Given the description of an element on the screen output the (x, y) to click on. 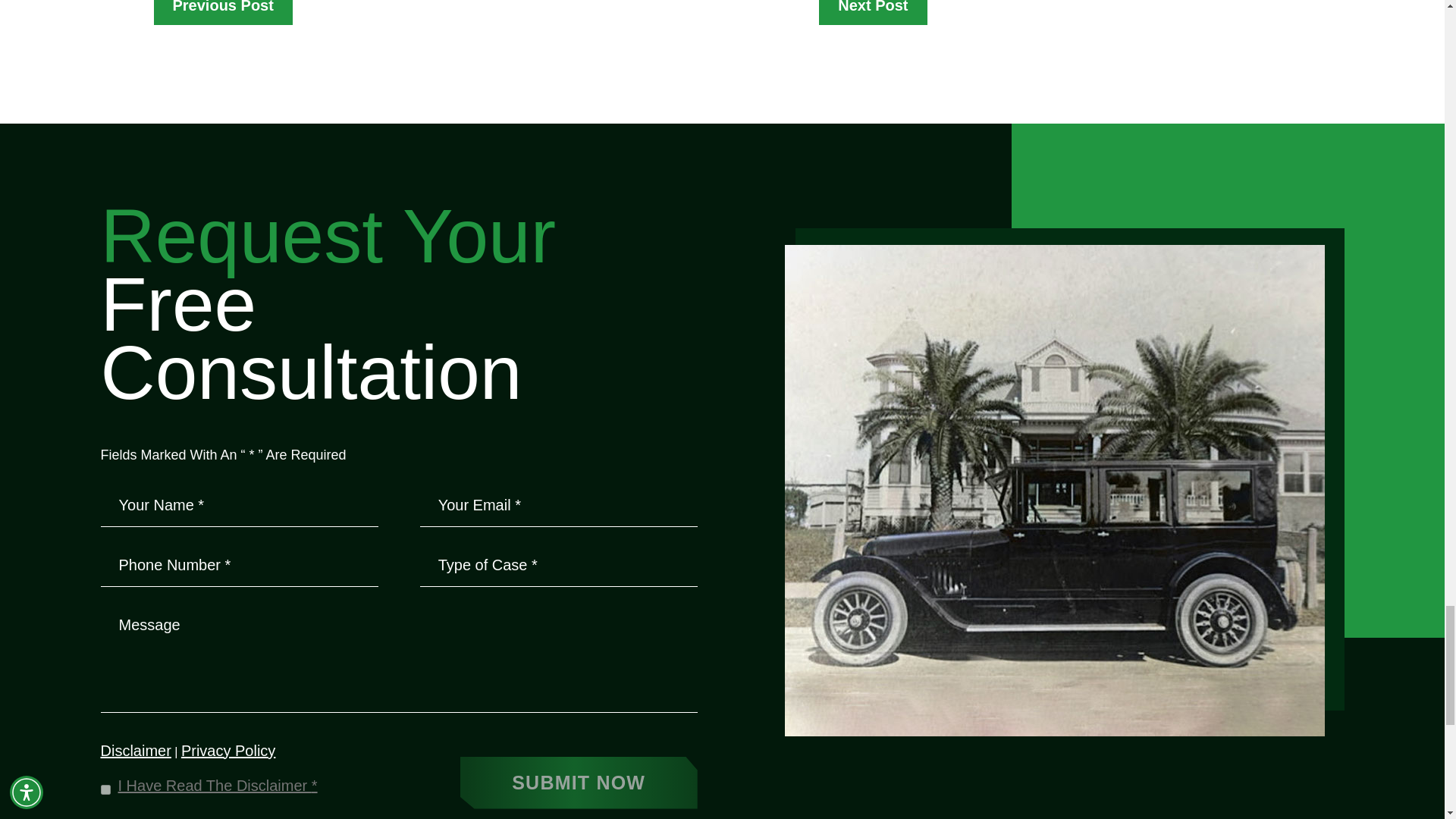
Submit Now (578, 782)
